Given the description of an element on the screen output the (x, y) to click on. 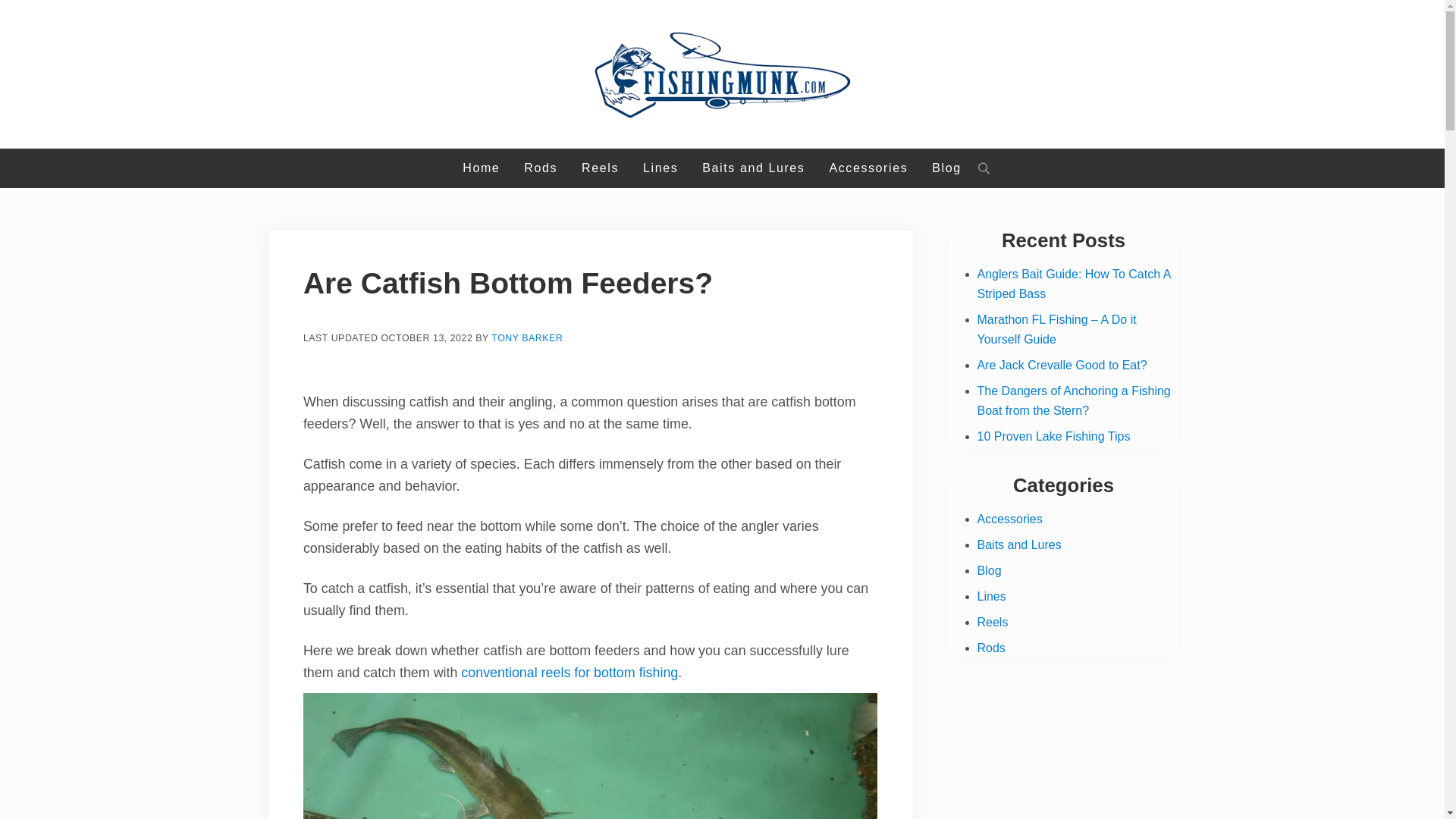
Home (480, 168)
Baits and Lures (753, 168)
Baits and Lures (1018, 544)
Lines (660, 168)
conventional reels for bottom fishing (569, 672)
Are Jack Crevalle Good to Eat? (1061, 364)
Reels (599, 168)
TONY BARKER (527, 337)
Rods (540, 168)
Blog (946, 168)
Accessories (868, 168)
The Dangers of Anchoring a Fishing Boat from the Stern? (1073, 400)
10 Proven Lake Fishing Tips (1052, 436)
Anglers Bait Guide: How To Catch A Striped Bass (1073, 283)
